Given the description of an element on the screen output the (x, y) to click on. 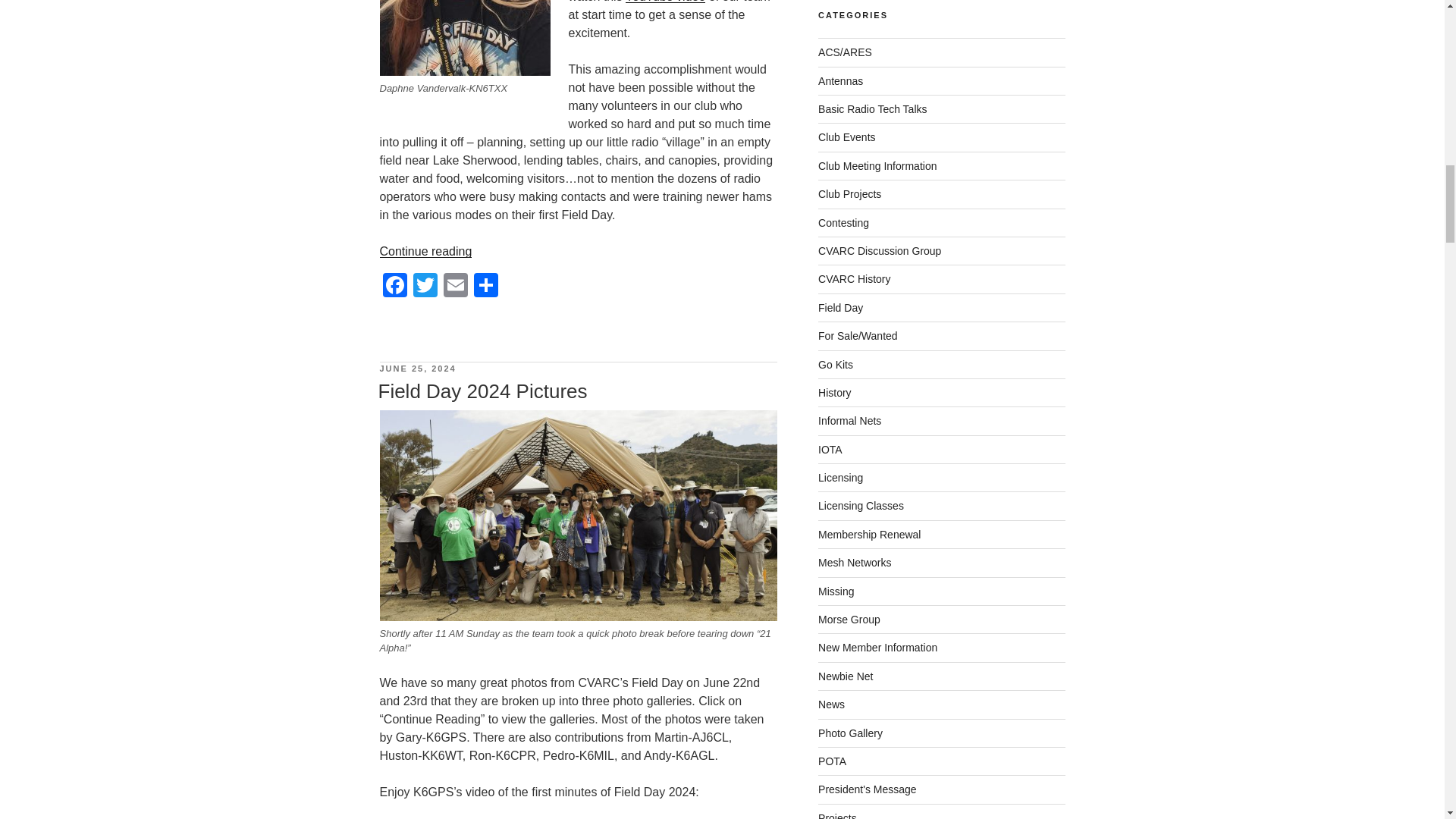
Email (454, 286)
Twitter (424, 286)
Facebook (393, 286)
